Given the description of an element on the screen output the (x, y) to click on. 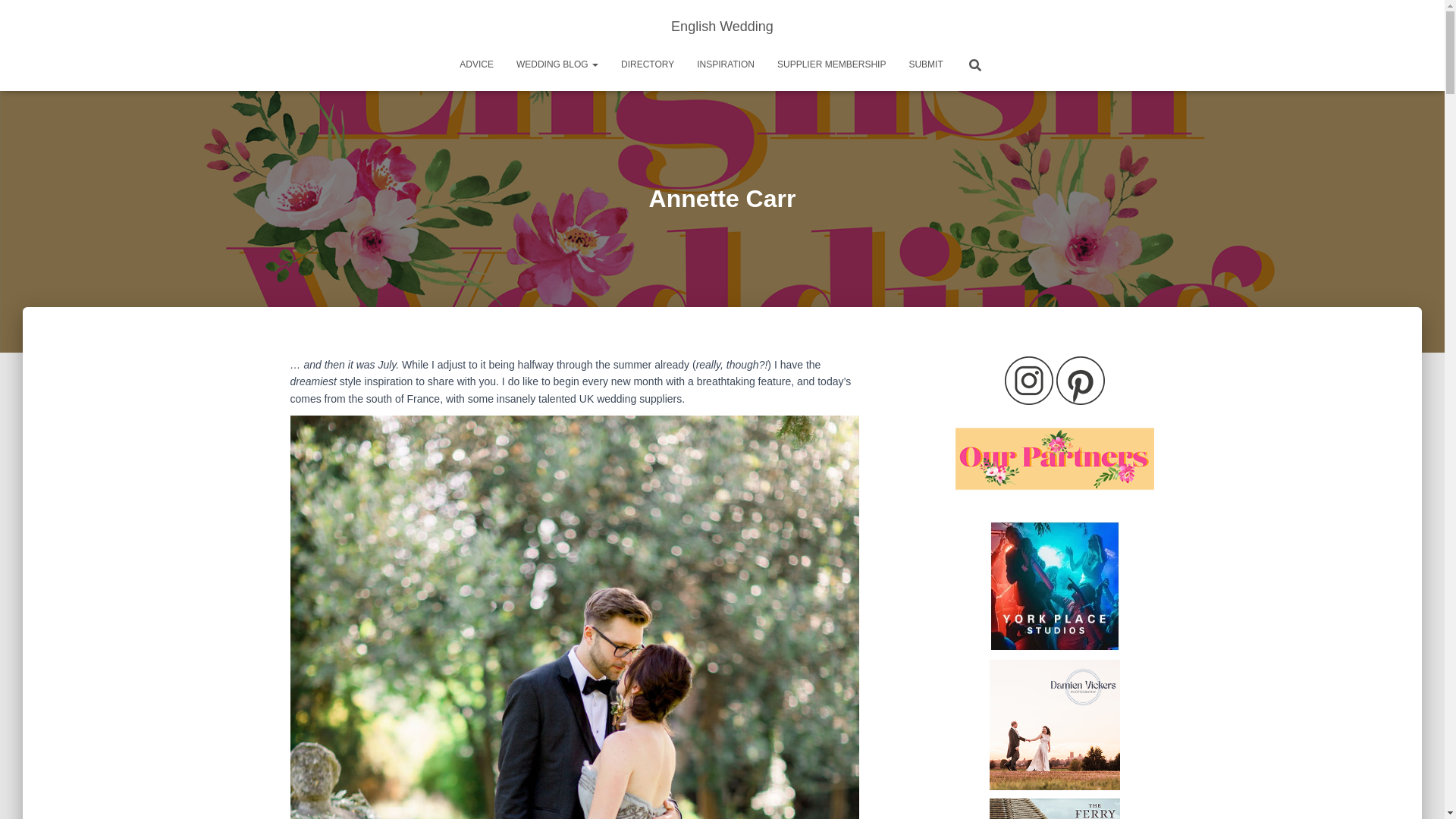
ADVICE (476, 64)
SUPPLIER MEMBERSHIP (830, 64)
Advice (476, 64)
DIRECTORY (647, 64)
Wedding Blog (557, 64)
SUBMIT (924, 64)
English Wedding (721, 26)
INSPIRATION (725, 64)
WEDDING BLOG (557, 64)
English Wedding (721, 26)
